Given the description of an element on the screen output the (x, y) to click on. 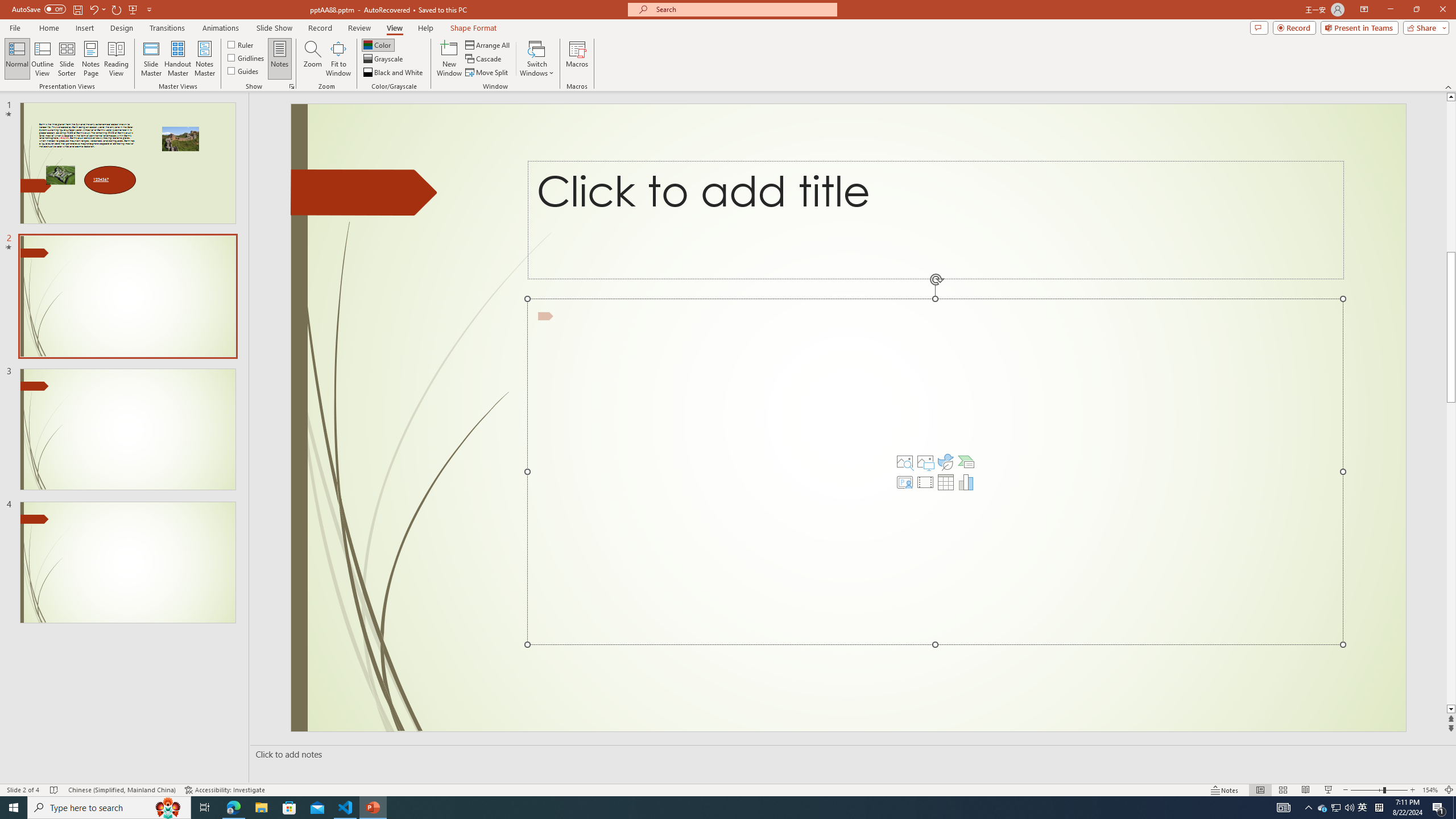
Grid Settings... (291, 85)
Guides (243, 69)
Notes Page (90, 58)
